Given the description of an element on the screen output the (x, y) to click on. 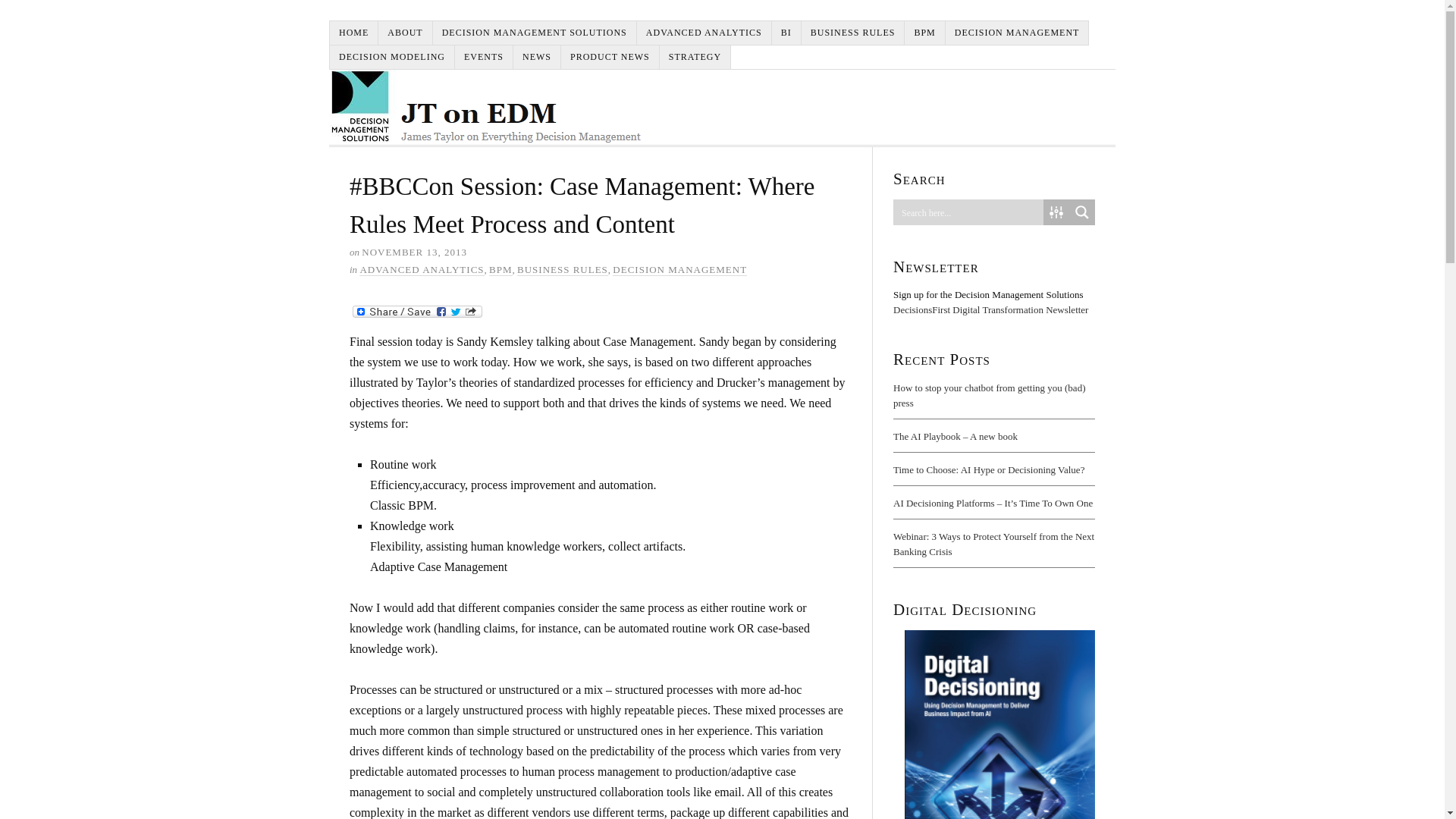
DECISION MANAGEMENT SOLUTIONS (534, 32)
BPM (500, 269)
STRATEGY (694, 57)
PRODUCT NEWS (609, 57)
DECISION MODELING (392, 57)
HOME (354, 32)
ADVANCED ANALYTICS (704, 32)
EVENTS (483, 57)
BPM (924, 32)
ABOUT (405, 32)
NEWS (536, 57)
2013-11-13 (414, 251)
DECISION MANAGEMENT (679, 269)
ADVANCED ANALYTICS (421, 269)
BI (786, 32)
